Given the description of an element on the screen output the (x, y) to click on. 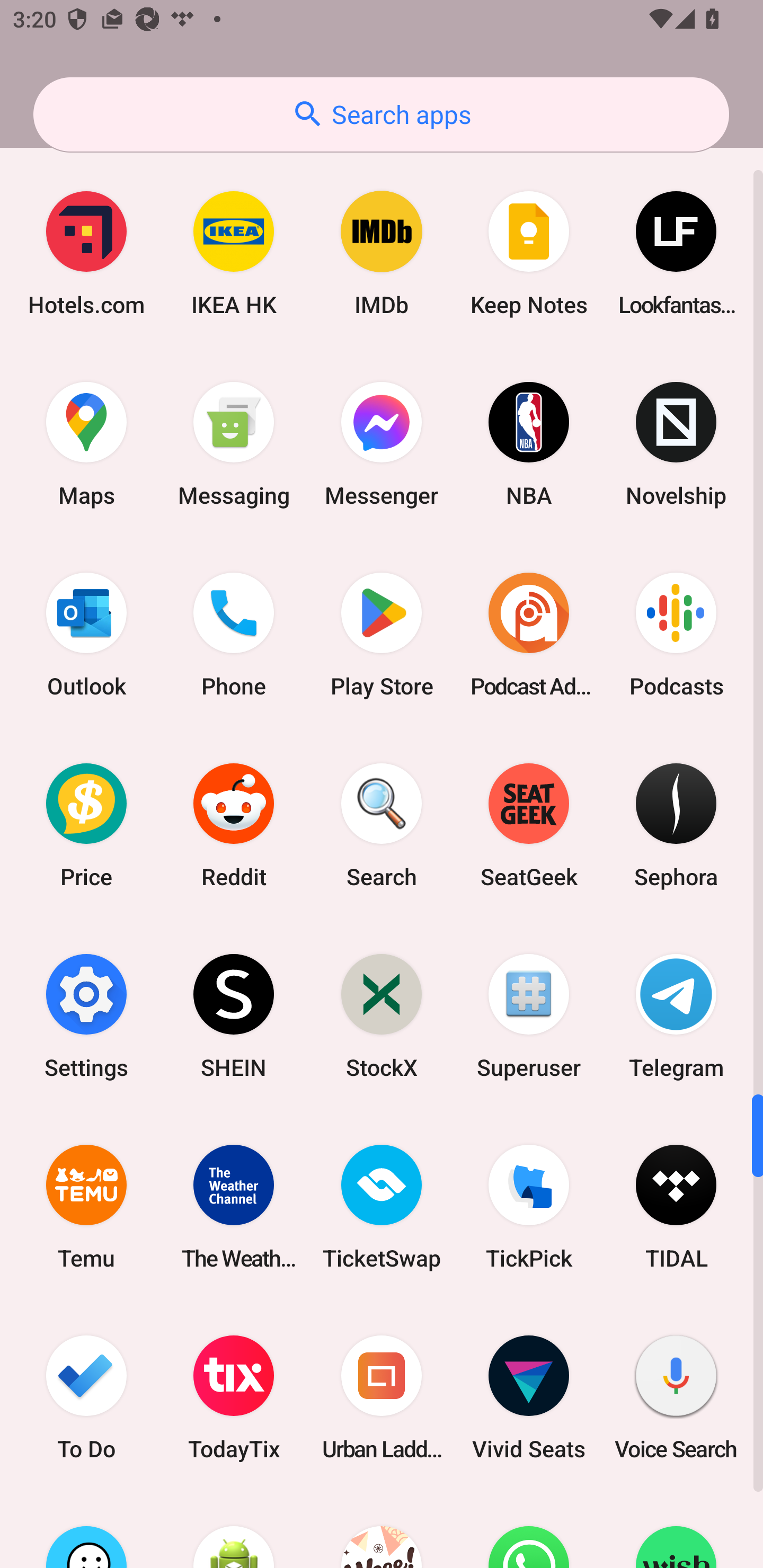
To Do (86, 1396)
